Given the description of an element on the screen output the (x, y) to click on. 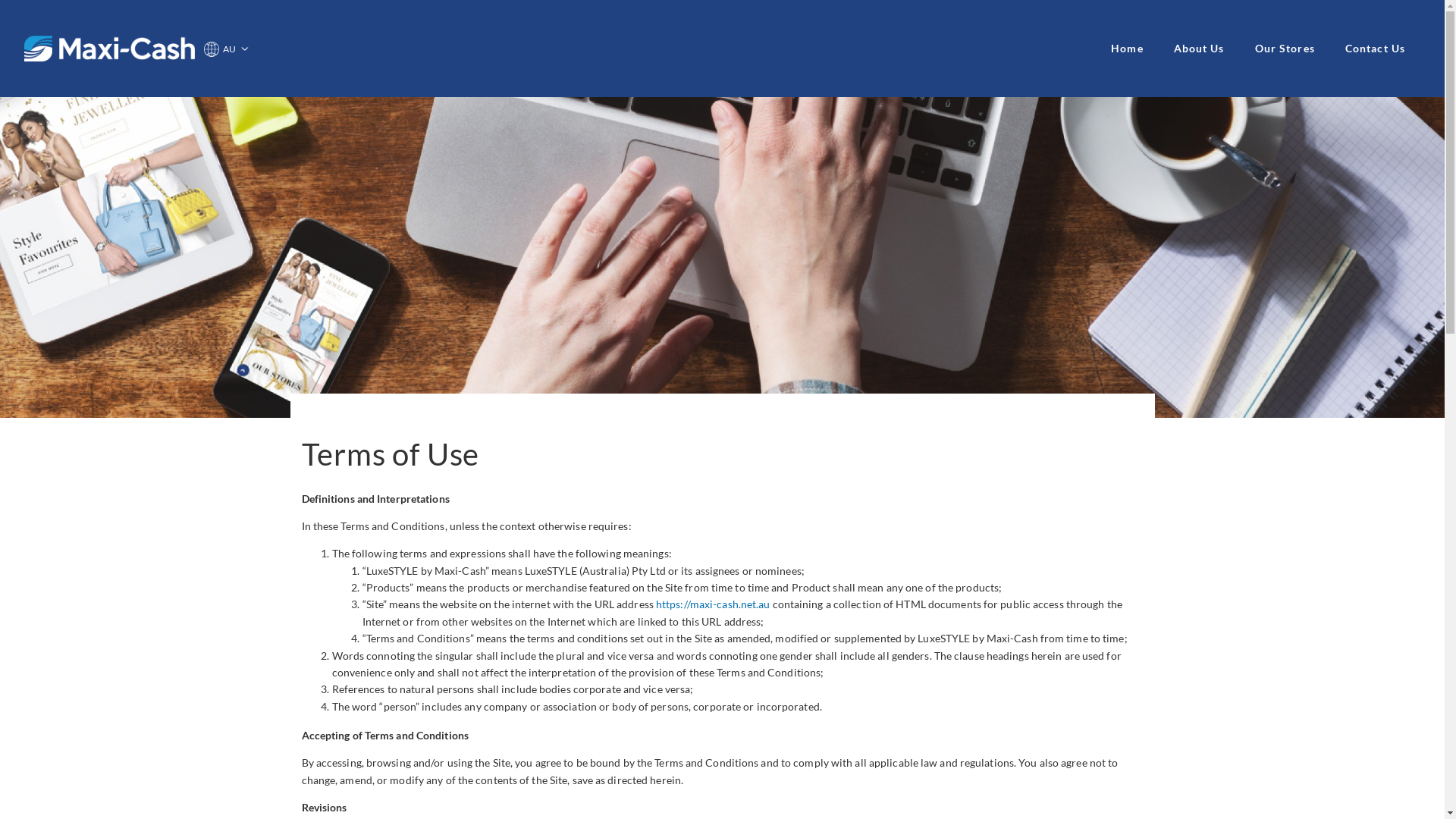
Contact Us Element type: text (1375, 48)
maxicash-logo-white Element type: hover (109, 48)
About Us Element type: text (1198, 48)
https://maxi-cash.net.au Element type: text (712, 603)
Our Stores Element type: text (1284, 48)
Home Element type: text (1126, 48)
